Given the description of an element on the screen output the (x, y) to click on. 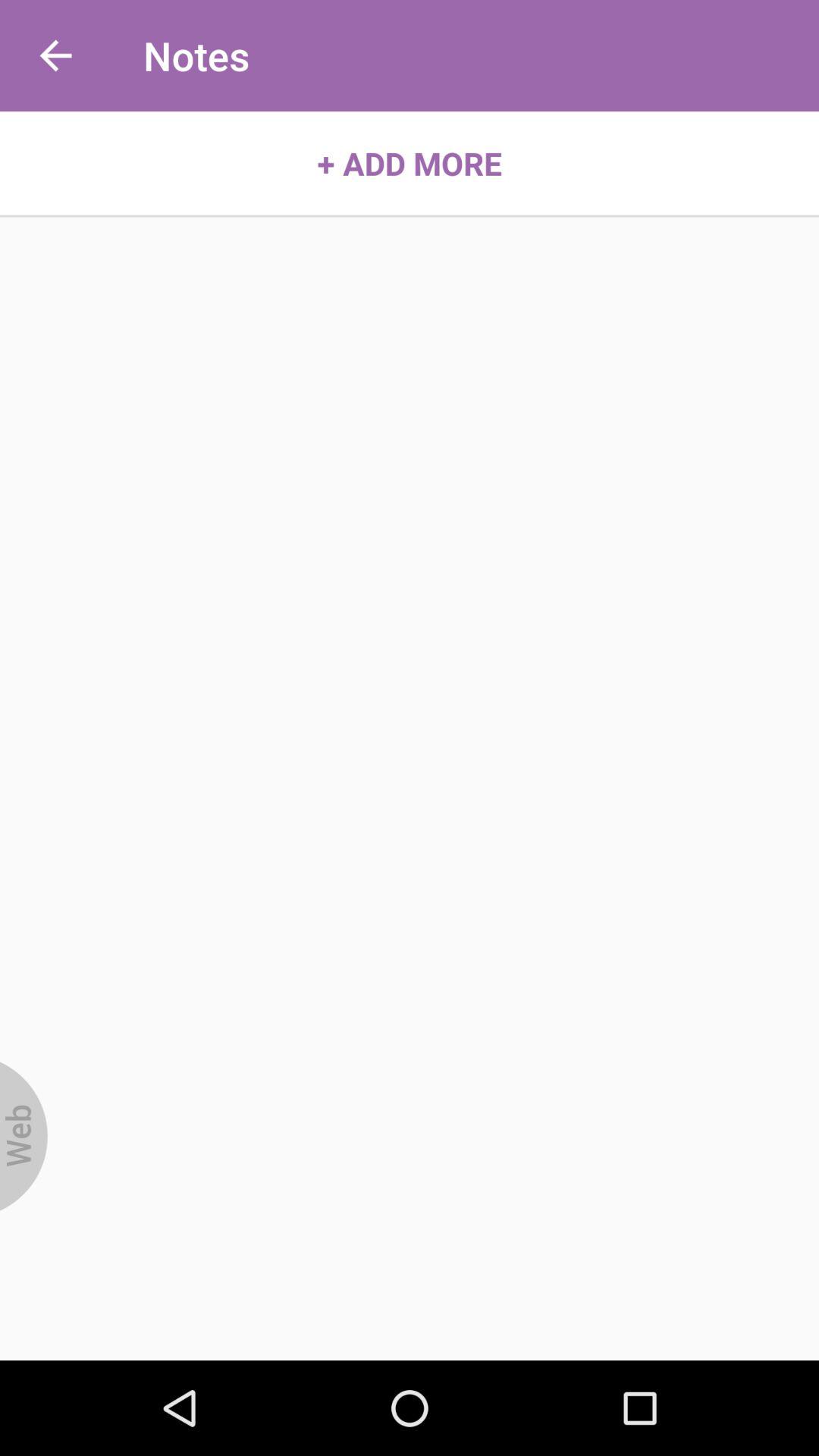
go to web (23, 1135)
